Given the description of an element on the screen output the (x, y) to click on. 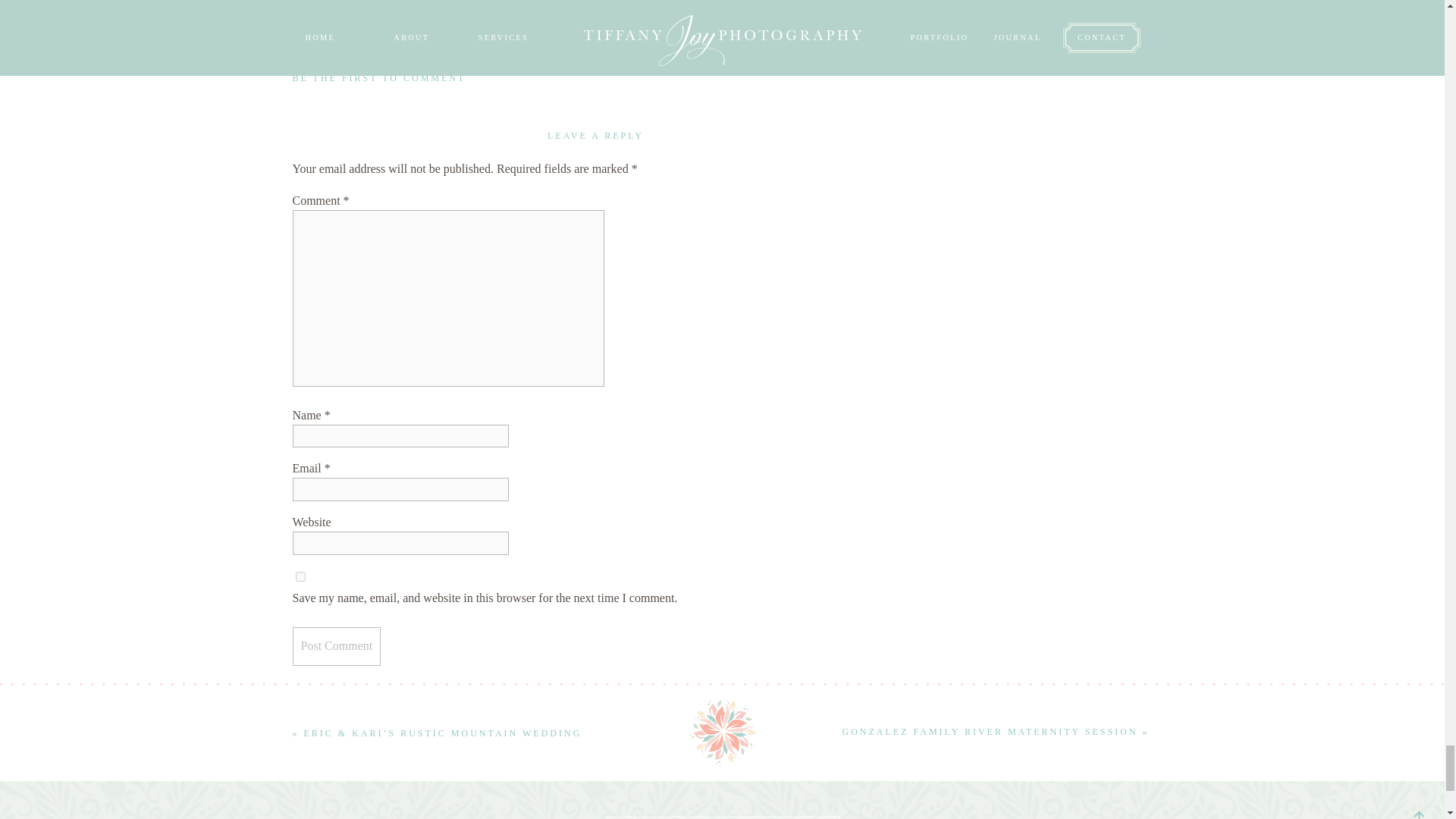
BE THE FIRST TO COMMENT (378, 77)
yes (300, 576)
Post Comment (336, 646)
GONZALEZ FAMILY RIVER MATERNITY SESSION (989, 731)
Post Comment (336, 646)
